Given the description of an element on the screen output the (x, y) to click on. 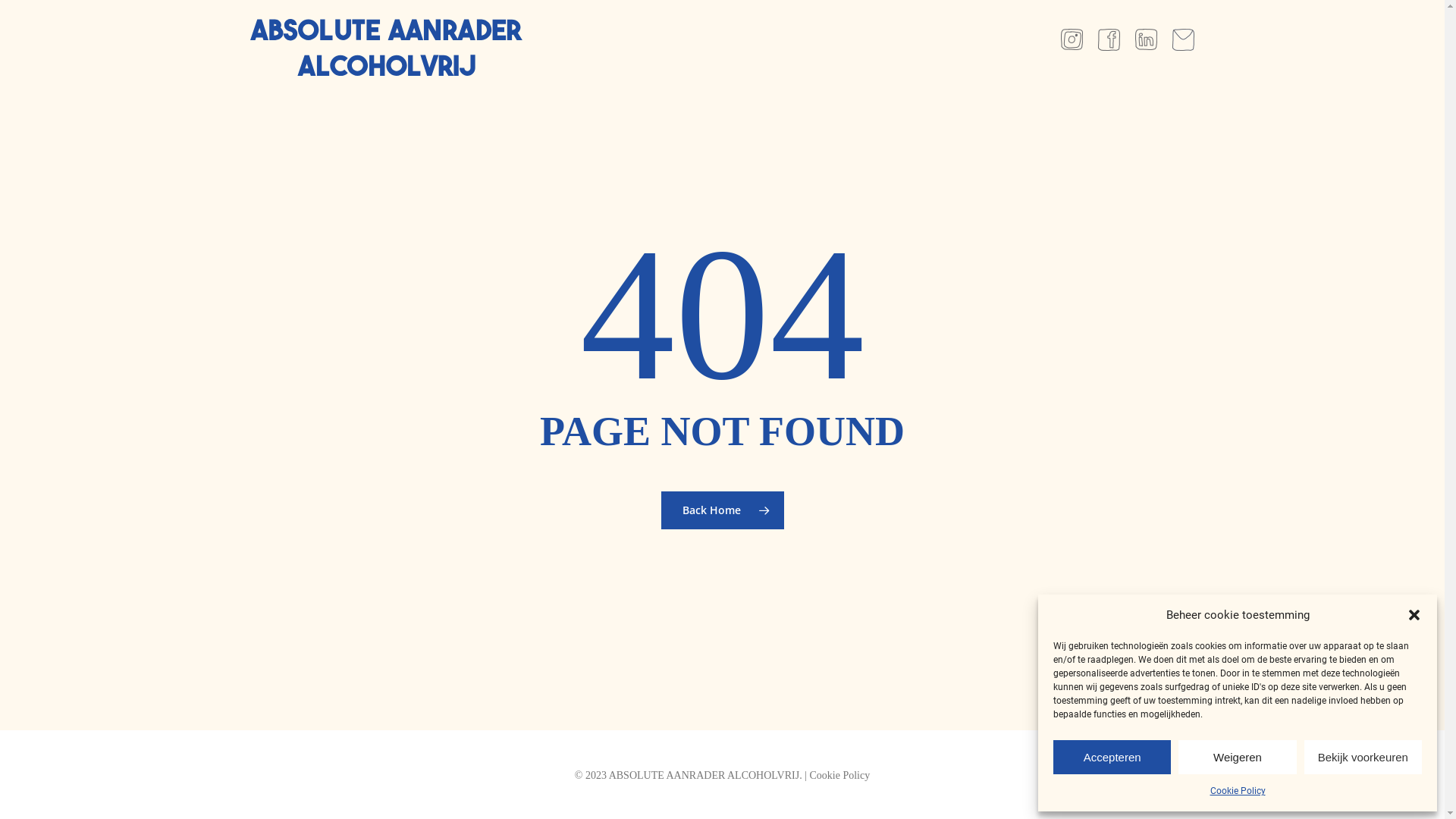
Cookie Policy Element type: text (1237, 790)
Weigeren Element type: text (1236, 757)
Back Home Element type: text (722, 510)
Cookie Policy Element type: text (839, 775)
Bekijk voorkeuren Element type: text (1362, 757)
Accepteren Element type: text (1111, 757)
